Given the description of an element on the screen output the (x, y) to click on. 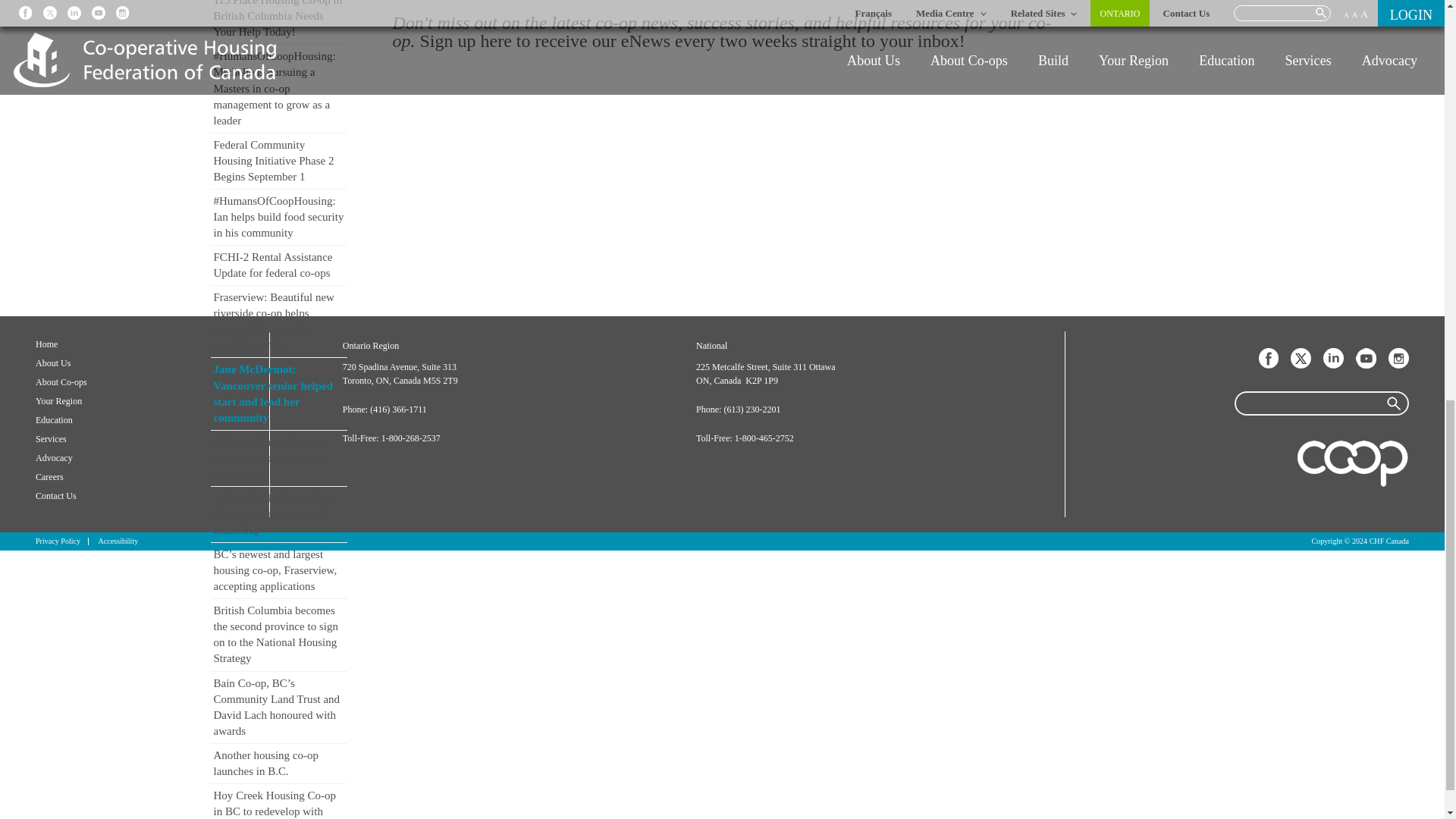
FCHI-2 Rental Assistance Update for federal co-ops (278, 265)
